Given the description of an element on the screen output the (x, y) to click on. 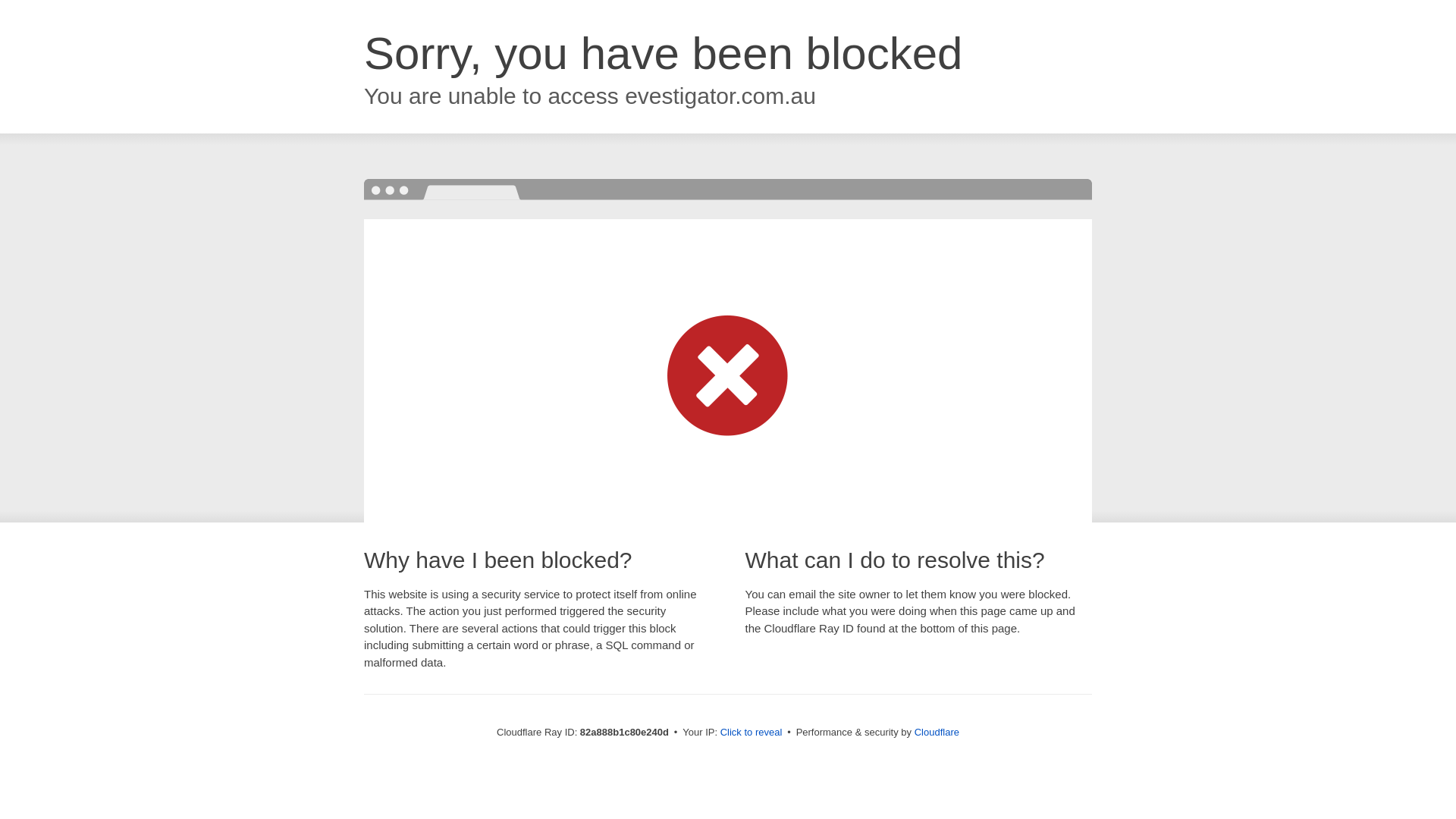
Click to reveal Element type: text (751, 732)
Cloudflare Element type: text (936, 731)
